Given the description of an element on the screen output the (x, y) to click on. 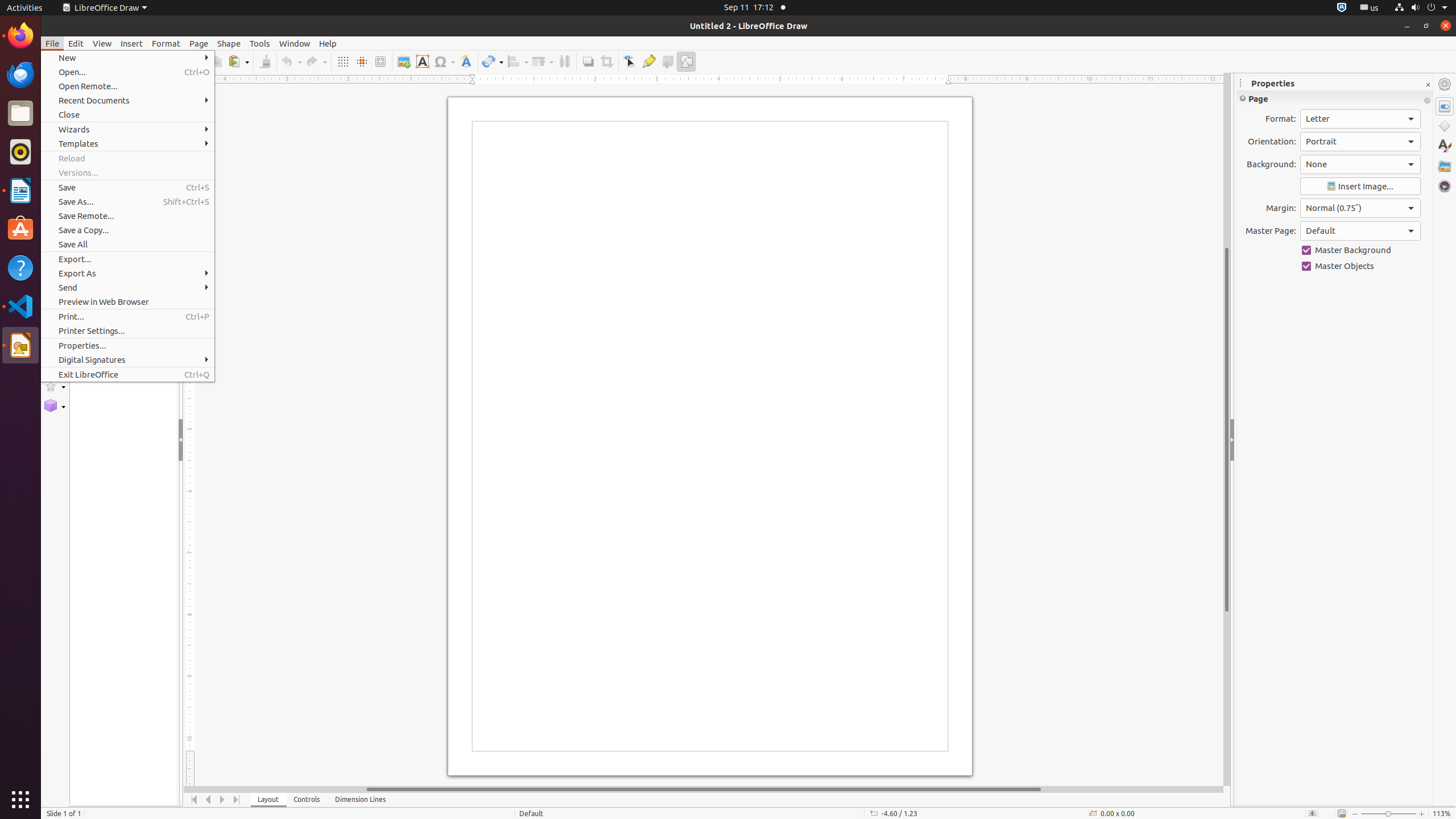
Margin: Element type: combo-box (1360, 207)
Gallery Element type: radio-button (1444, 165)
Printer Settings... Element type: menu-item (127, 330)
Send Element type: menu (127, 287)
Shadow Element type: toggle-button (587, 61)
